Given the description of an element on the screen output the (x, y) to click on. 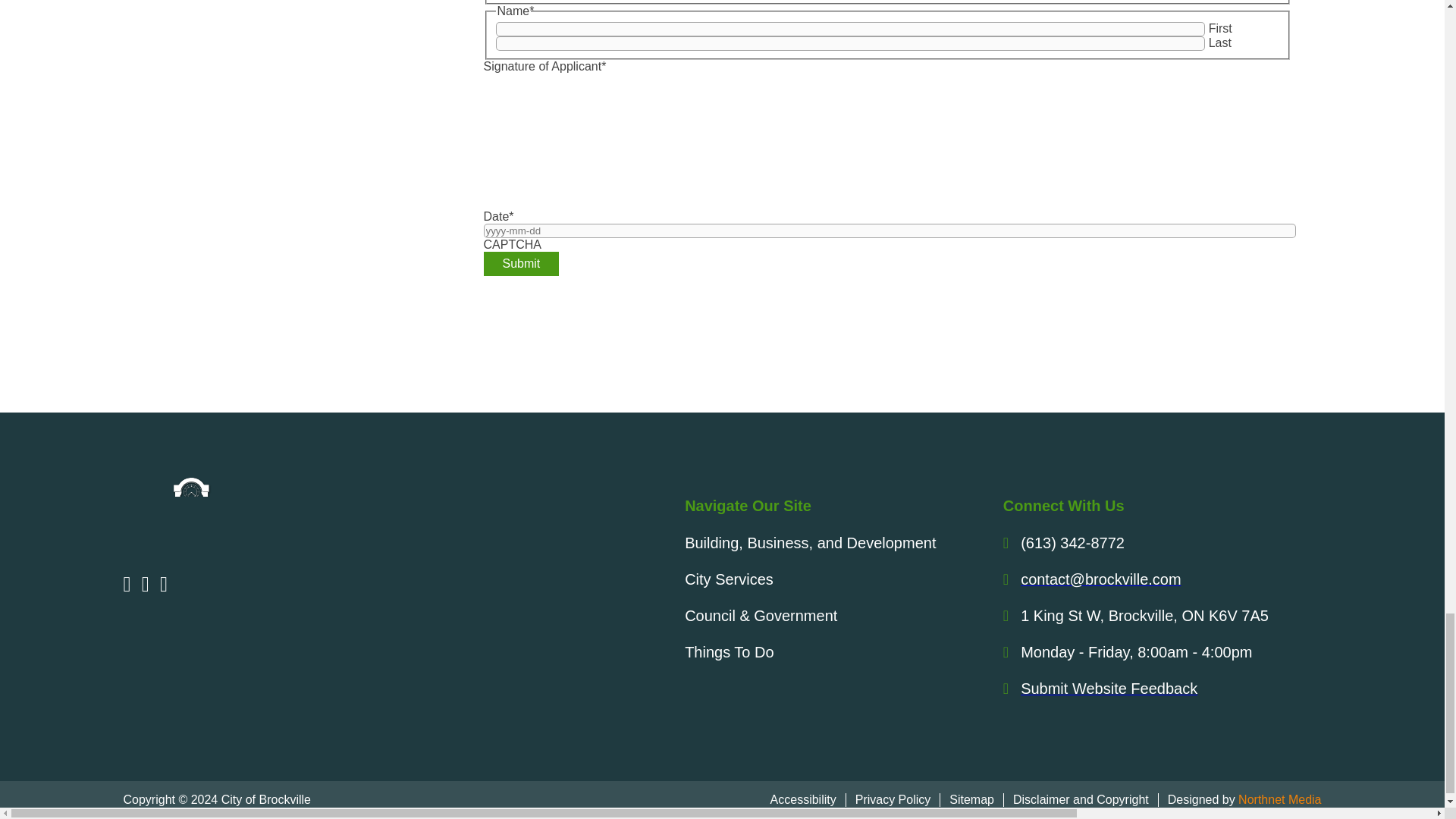
Instagram (149, 586)
Facebook (167, 586)
Twitter (130, 586)
